Given the description of an element on the screen output the (x, y) to click on. 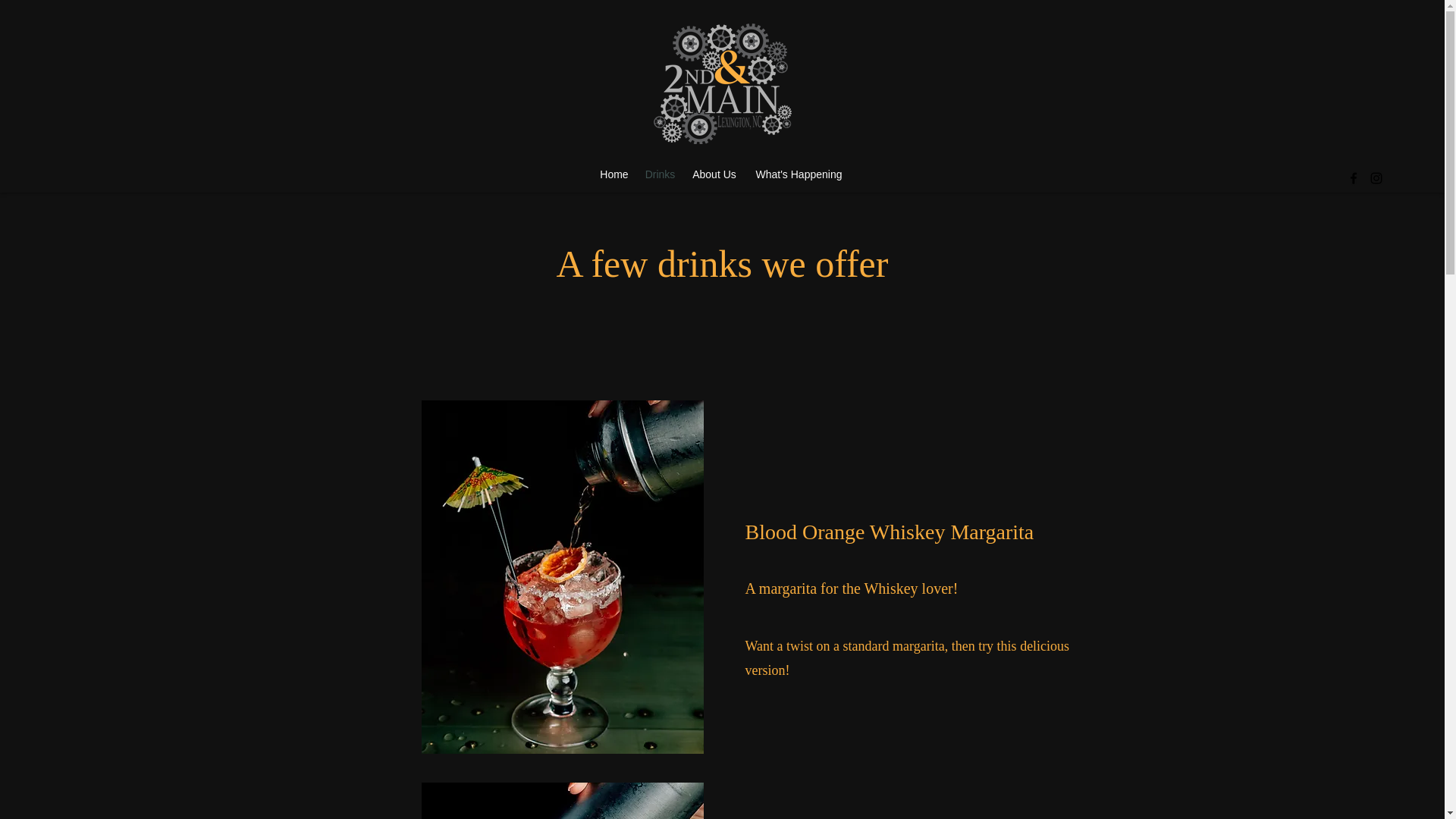
Whte Chocolate Espresso Martinia (562, 800)
What's Happening (797, 173)
Home (613, 173)
Drinks (659, 173)
About Us (713, 173)
